Given the description of an element on the screen output the (x, y) to click on. 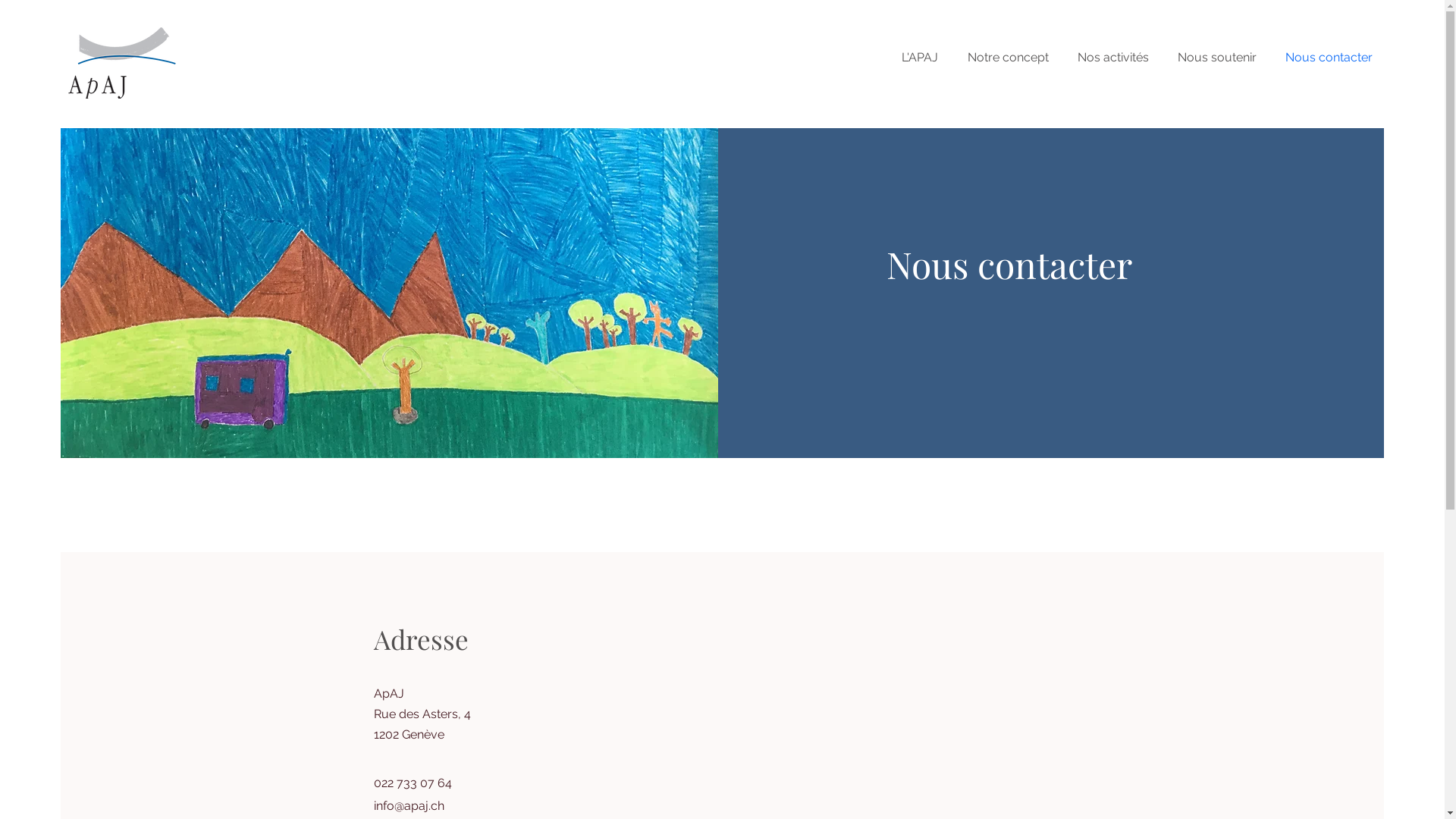
Nous contacter Element type: text (1332, 57)
Nous soutenir Element type: text (1220, 57)
L'APAJ Element type: text (923, 57)
Notre concept Element type: text (1011, 57)
info@apaj.ch Element type: text (408, 805)
